Given the description of an element on the screen output the (x, y) to click on. 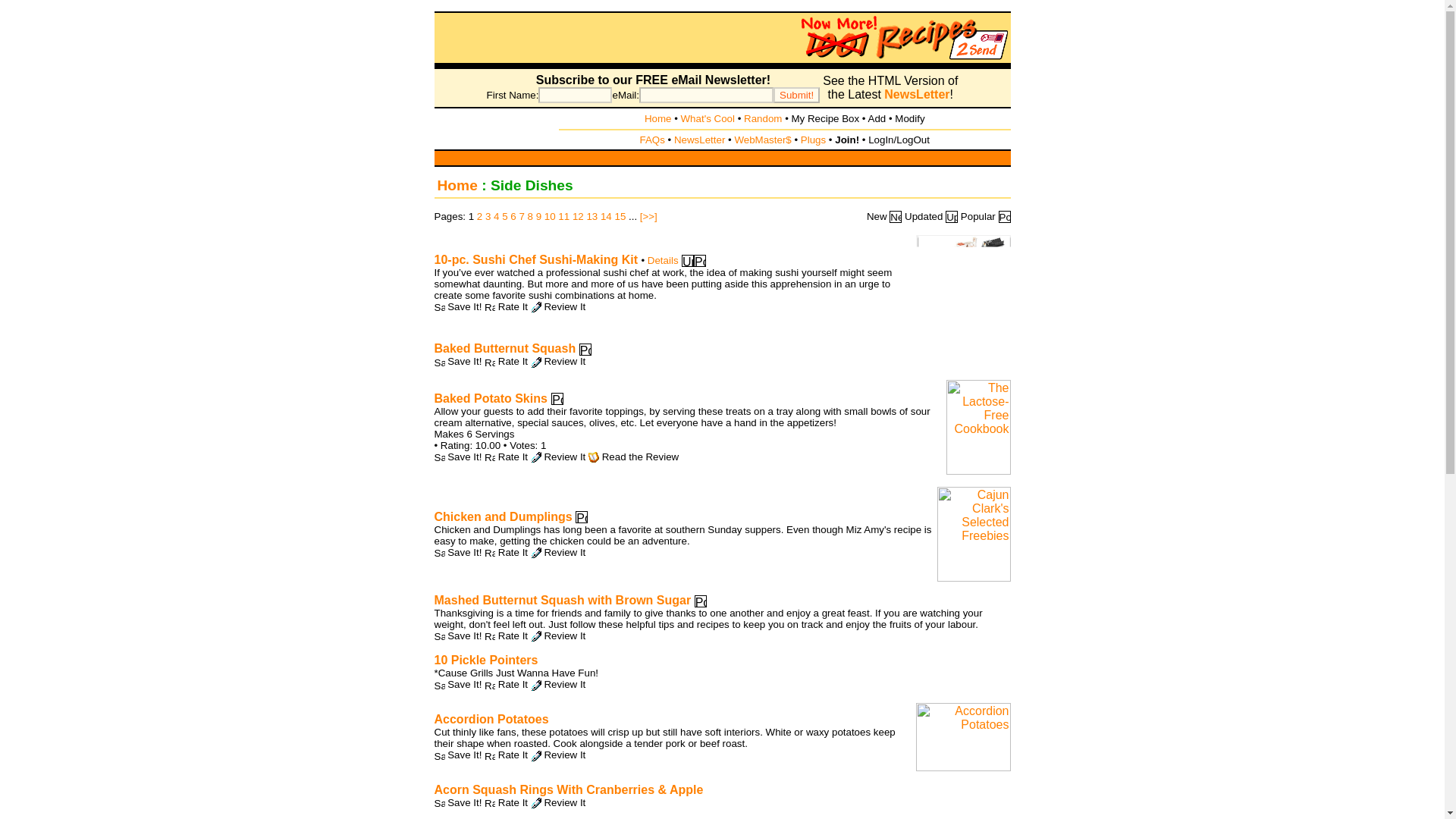
Details (662, 260)
NewsLetter (916, 93)
FAQs (652, 139)
15 (620, 215)
Plugs (812, 139)
LogOut (913, 139)
Save It! (463, 306)
12 (577, 215)
My Recipe Box (826, 118)
Home (456, 185)
